Given the description of an element on the screen output the (x, y) to click on. 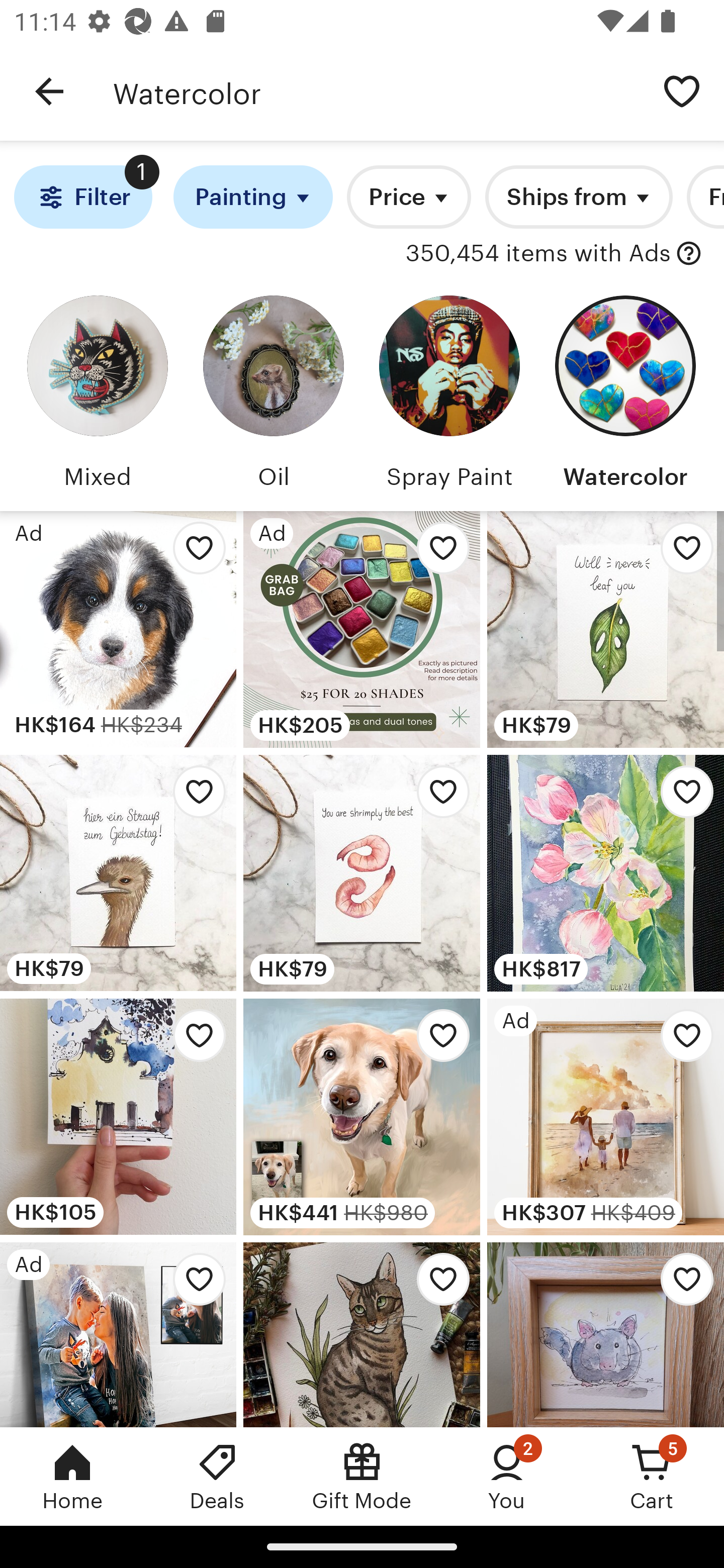
Navigate up (49, 91)
Save search (681, 90)
Watercolor (375, 91)
Filter (82, 197)
Painting (253, 197)
Price (408, 197)
Ships from (578, 197)
350,454 items with Ads (538, 253)
with Ads (688, 253)
Mixed (97, 395)
Oil (273, 395)
Spray Paint (449, 395)
Watercolor (625, 395)
Deals (216, 1475)
Gift Mode (361, 1475)
You, 2 new notifications You (506, 1475)
Cart, 5 new notifications Cart (651, 1475)
